Given the description of an element on the screen output the (x, y) to click on. 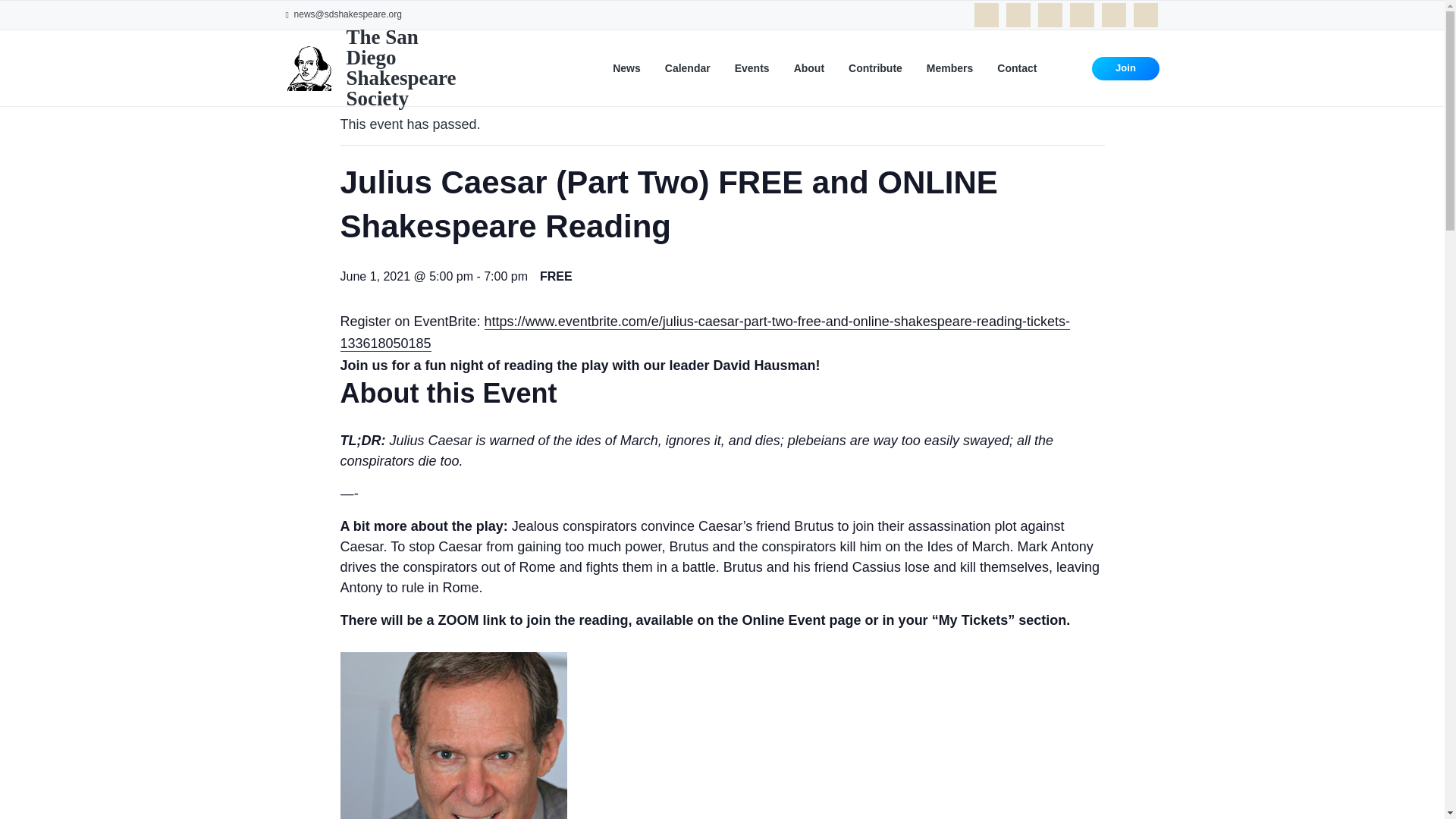
Events (752, 67)
Contribute (875, 67)
News (626, 67)
The San Diego Shakespeare Society (400, 67)
Calendar (687, 67)
About (808, 67)
